Given the description of an element on the screen output the (x, y) to click on. 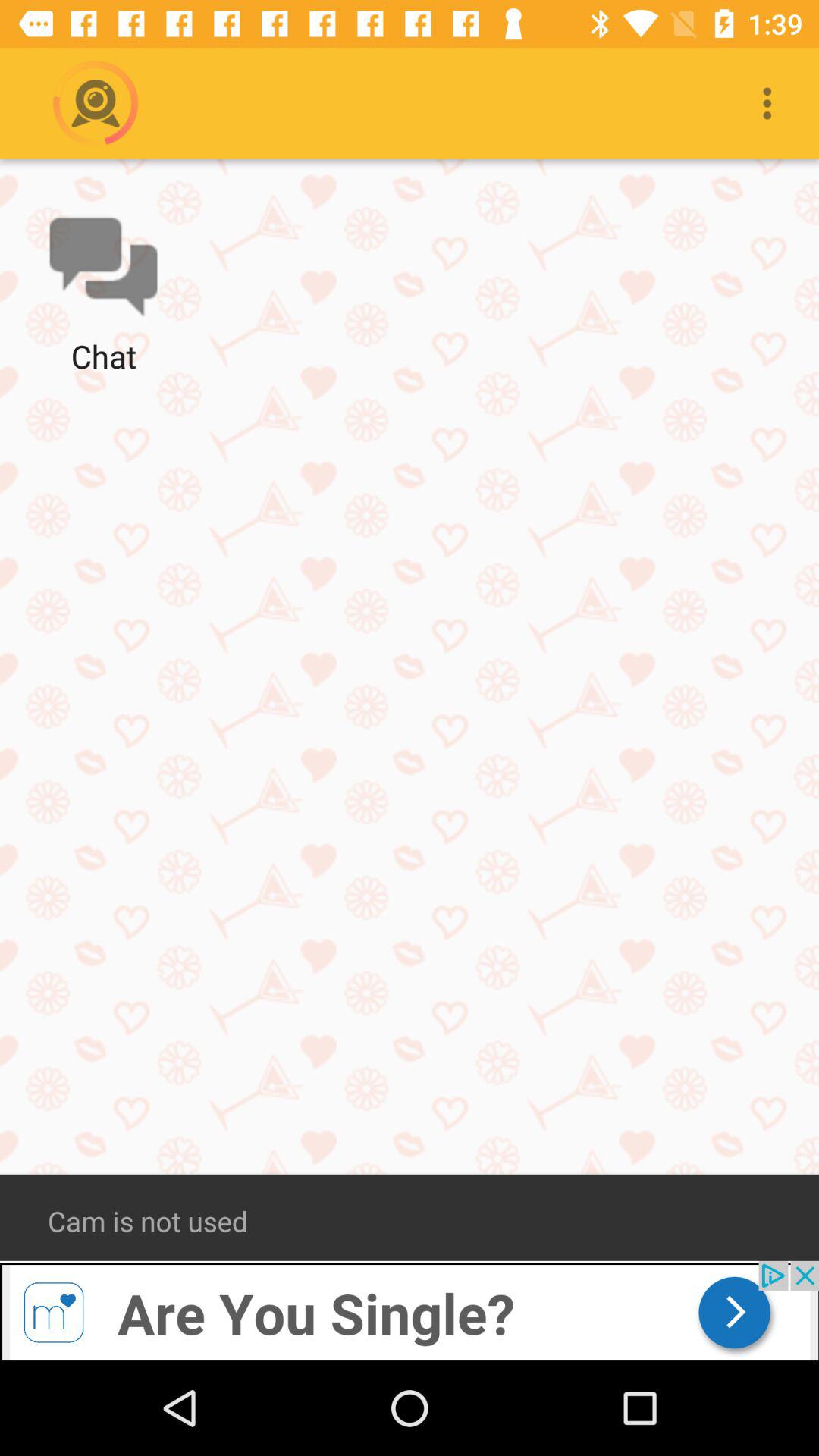
advertisement (409, 1310)
